Given the description of an element on the screen output the (x, y) to click on. 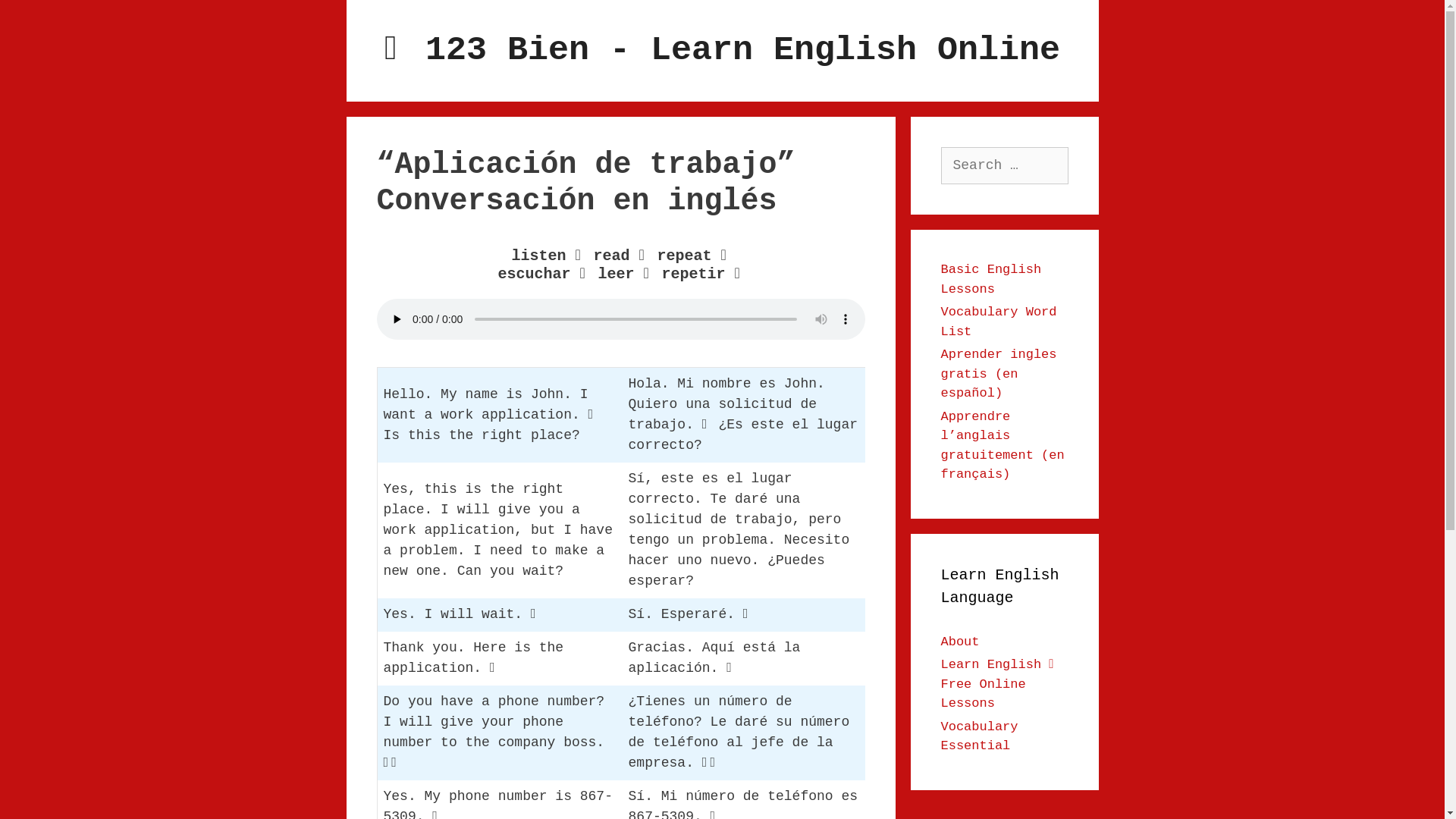
Vocabulary Word List Element type: text (998, 321)
Search for: Element type: hover (1003, 165)
Vocabulary Essential Element type: text (978, 735)
Search Element type: text (40, 18)
About Element type: text (959, 640)
Basic English Lessons Element type: text (990, 279)
